Given the description of an element on the screen output the (x, y) to click on. 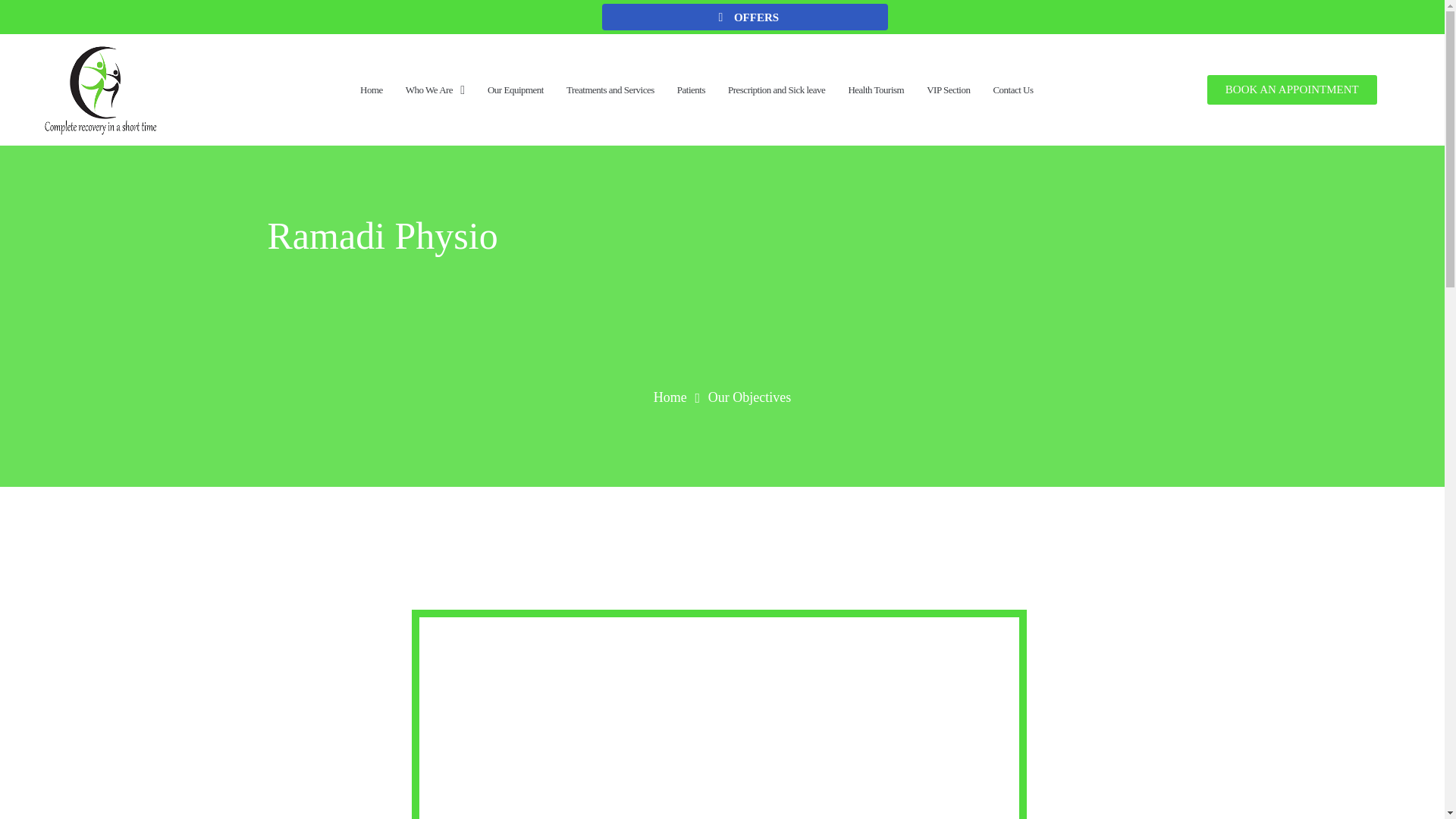
Home (670, 396)
OFFERS (744, 17)
Patients (690, 90)
Home (670, 396)
Who We Are (435, 90)
Home (371, 90)
Contact Us (1012, 90)
Submit (513, 600)
VIP Section (948, 90)
Our Equipment (515, 90)
